Given the description of an element on the screen output the (x, y) to click on. 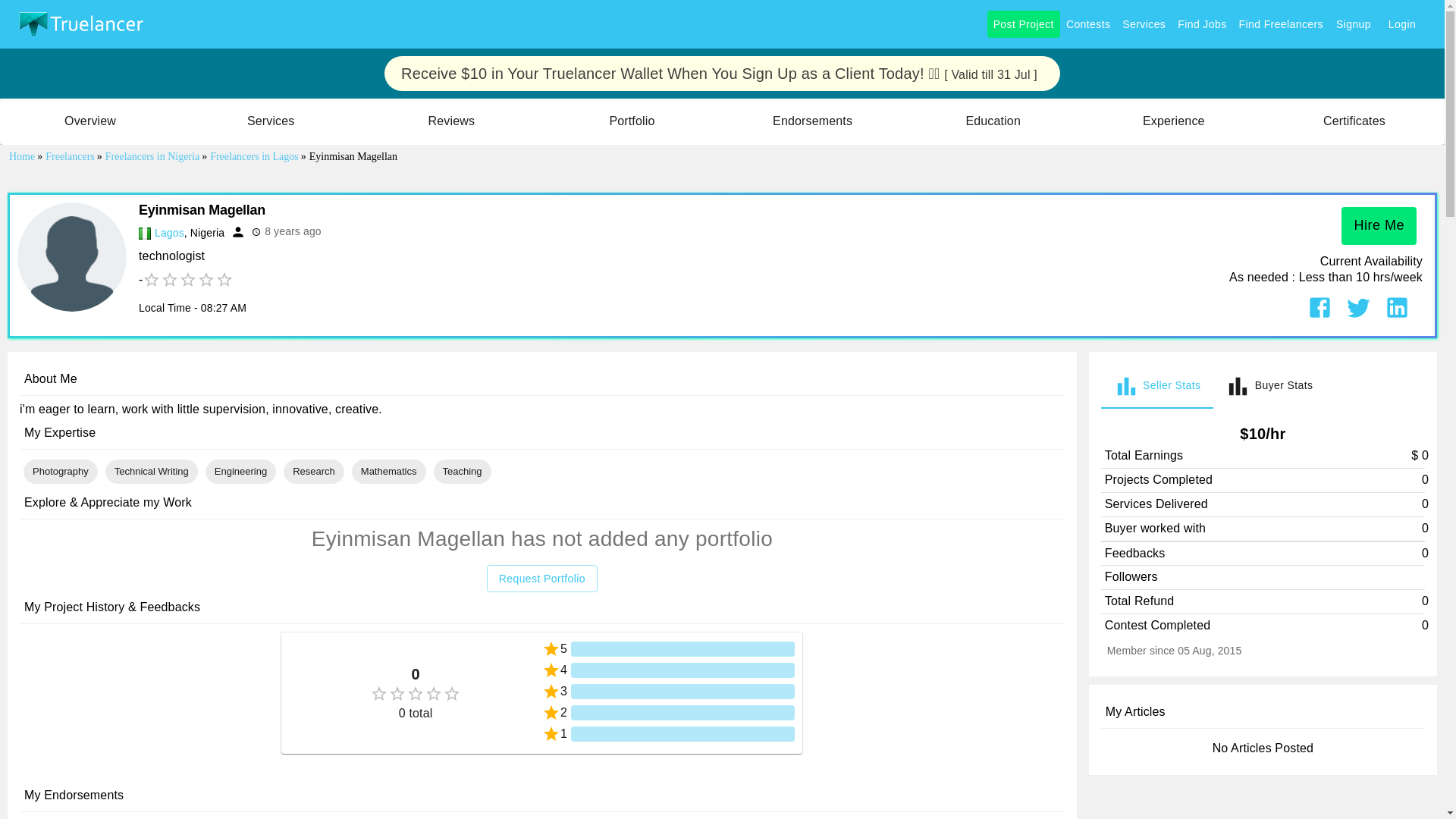
Photography (60, 471)
Home (22, 156)
Teaching (462, 471)
Engineering (240, 471)
Freelancers in Nigeria (153, 156)
Request Portfolio (541, 578)
Research (313, 471)
Lagos (169, 232)
Mathematics (388, 471)
Find Jobs (1201, 24)
Signup (1353, 24)
Login (1401, 24)
Freelancers in Lagos (255, 156)
Contests (1087, 24)
Buyer Stats (1268, 385)
